Given the description of an element on the screen output the (x, y) to click on. 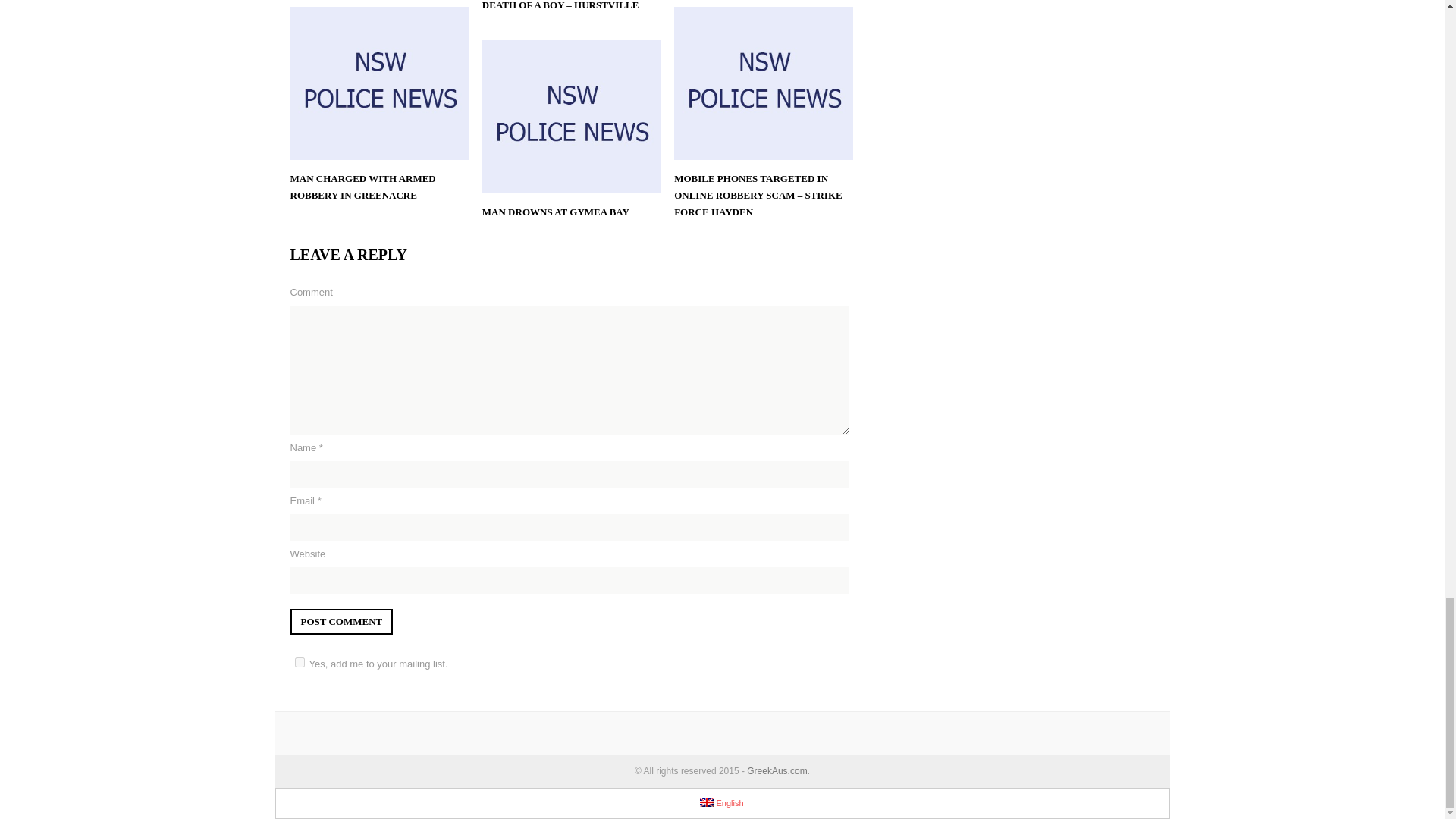
Post Comment (341, 621)
1 (298, 662)
